Given the description of an element on the screen output the (x, y) to click on. 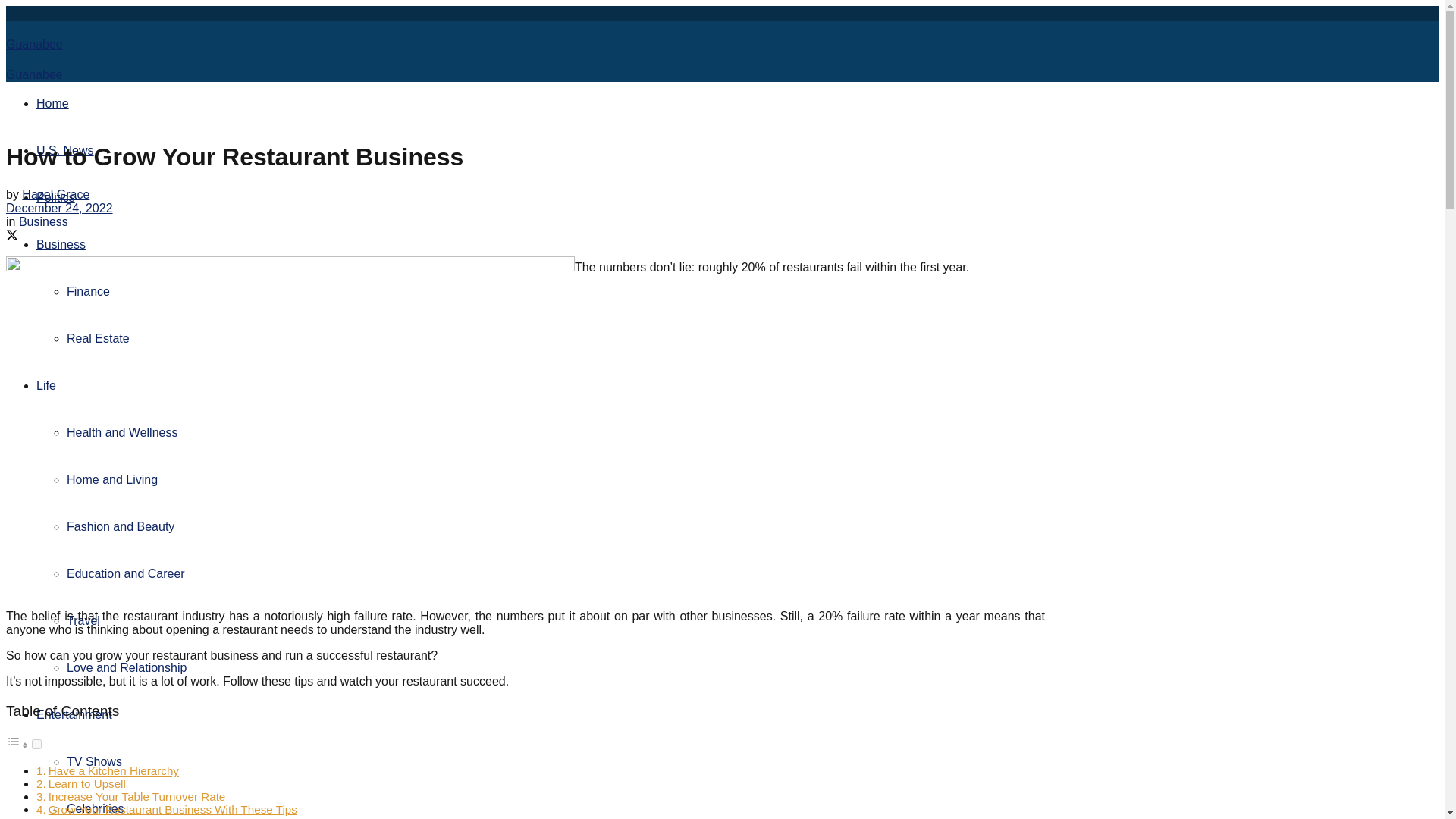
Increase Your Table Turnover Rate (136, 796)
Learn to Upsell (86, 783)
Have a Kitchen Hierarchy (113, 770)
Business (60, 244)
U.S. News (65, 150)
December 24, 2022 (59, 207)
TV Shows (94, 761)
Life (46, 385)
Home and Living (111, 479)
Celebrities (94, 808)
